Given the description of an element on the screen output the (x, y) to click on. 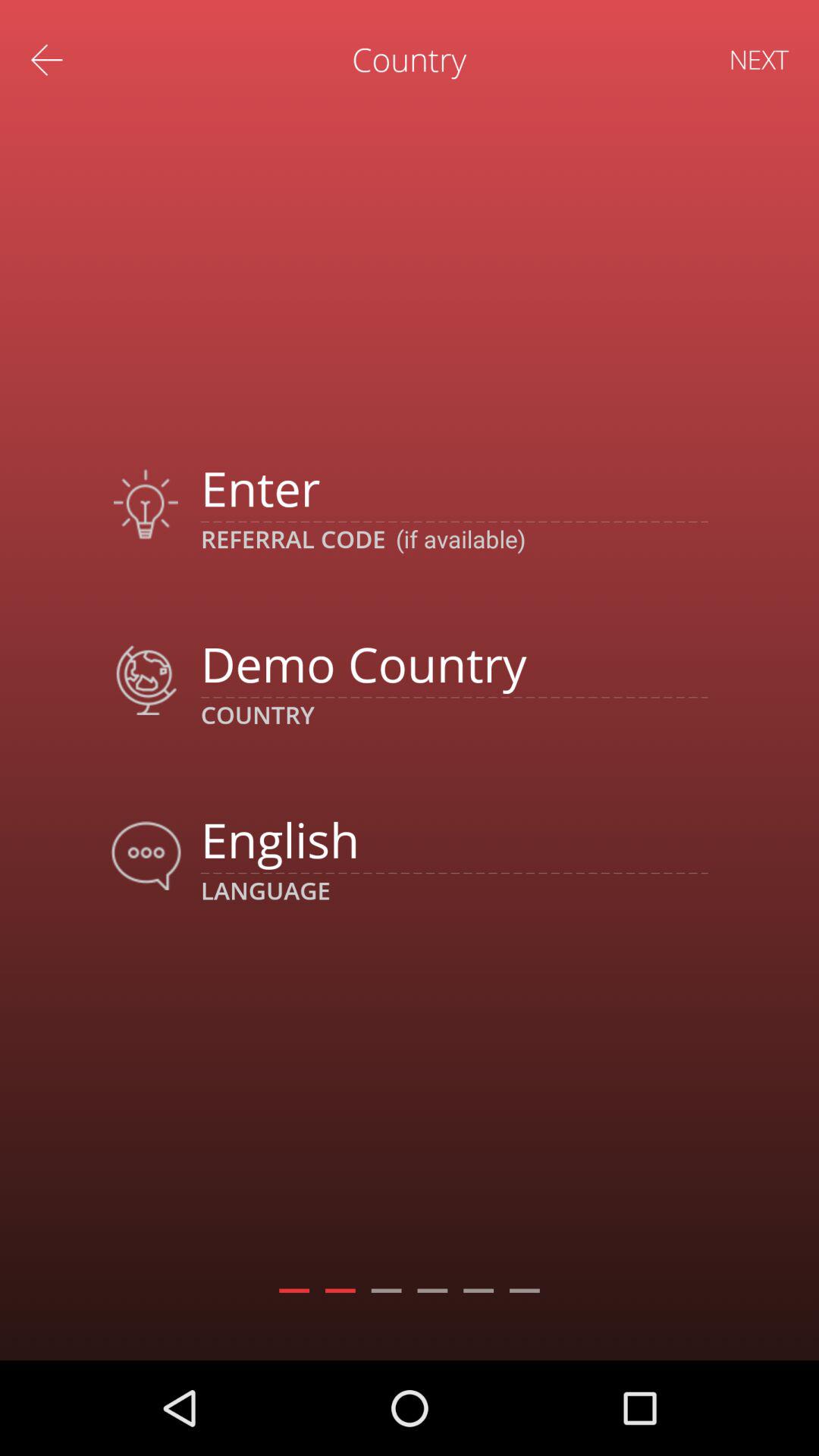
type into referral code field (454, 487)
